Given the description of an element on the screen output the (x, y) to click on. 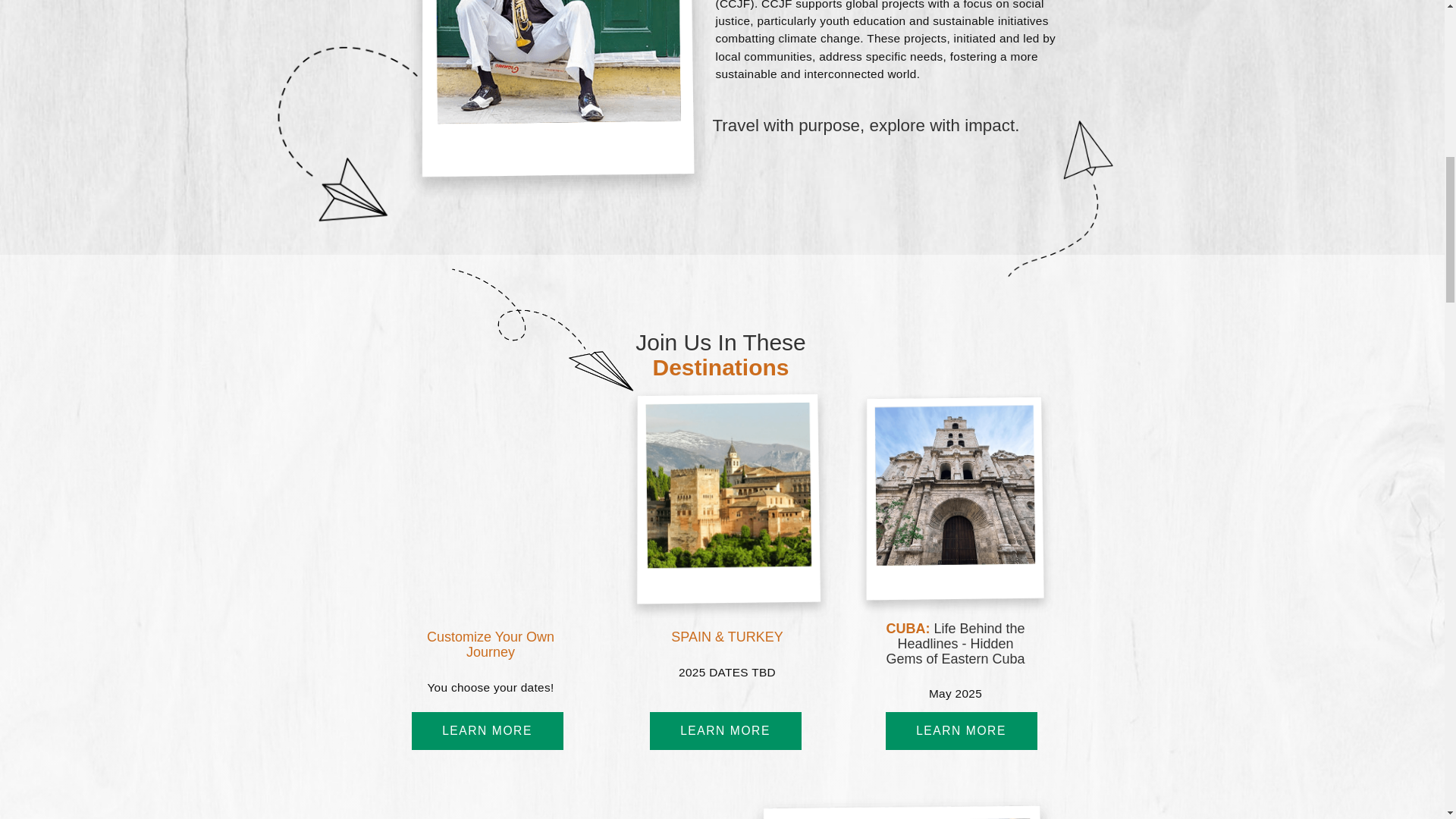
LEARN MORE (724, 730)
LEARN MORE (960, 730)
LEARN MORE (486, 730)
